Given the description of an element on the screen output the (x, y) to click on. 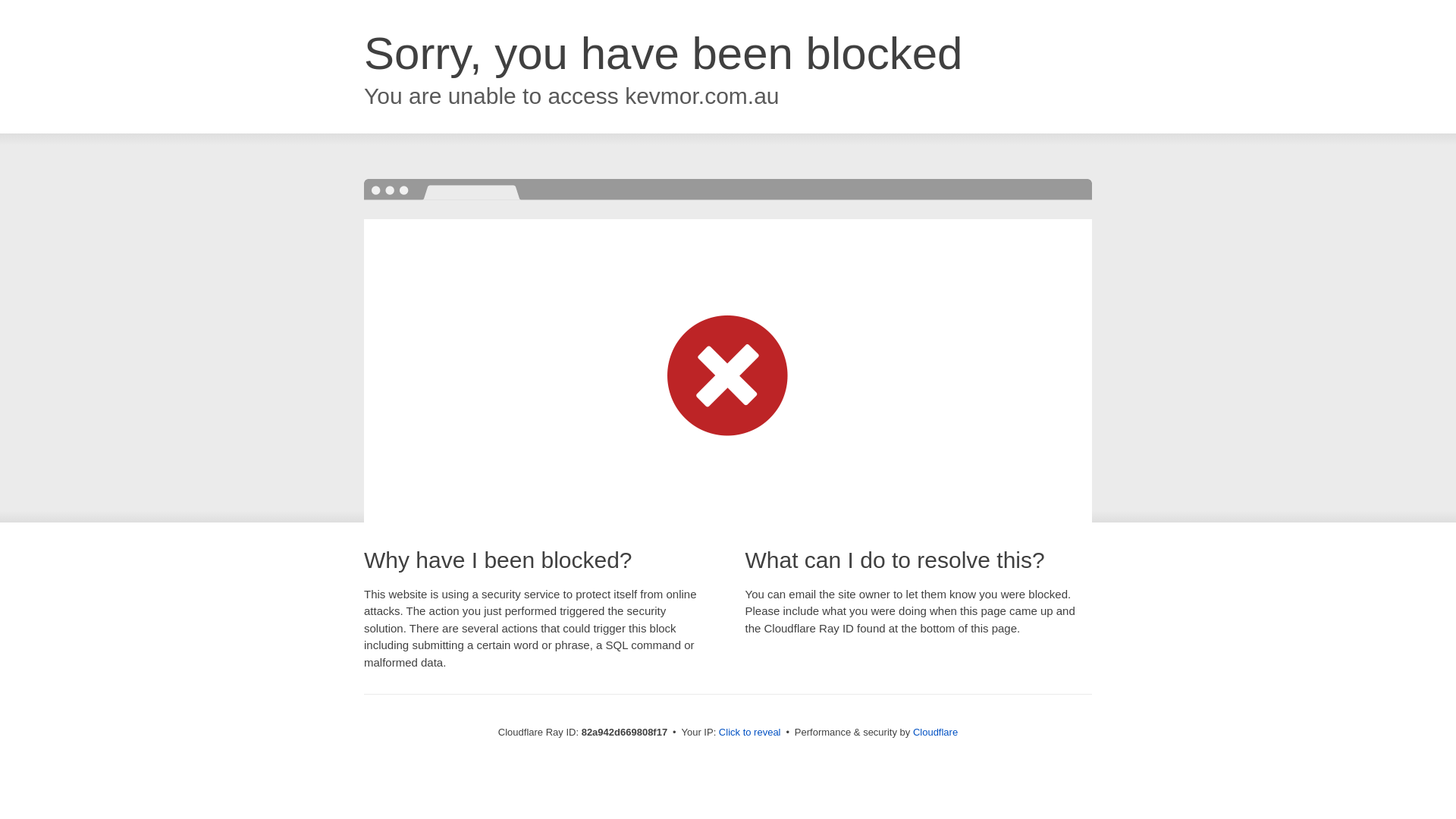
Click to reveal Element type: text (749, 732)
Cloudflare Element type: text (935, 731)
